Given the description of an element on the screen output the (x, y) to click on. 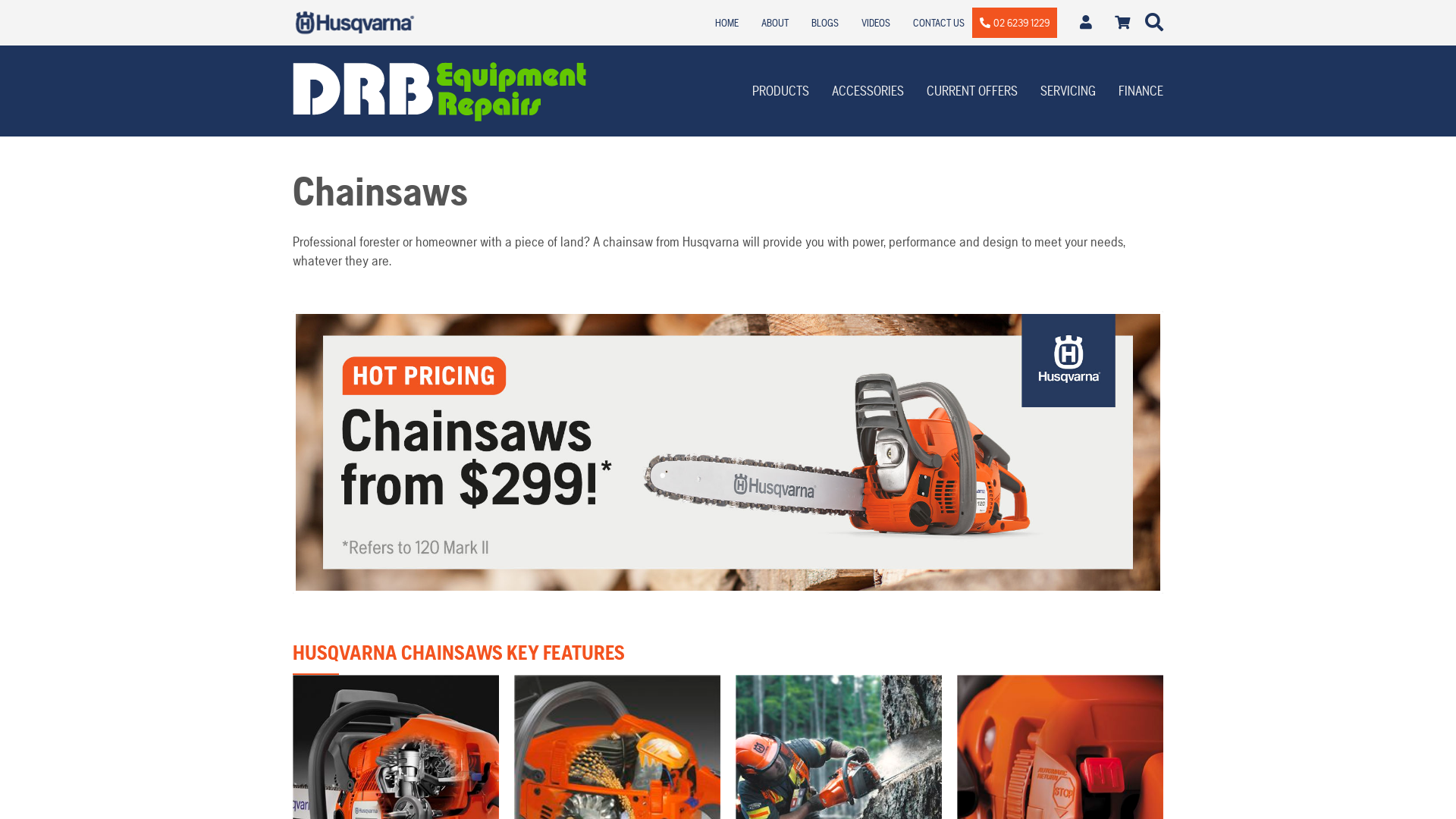
CONTACT US Element type: text (938, 22)
View Cart Element type: hover (1122, 21)
CURRENT OFFERS Element type: text (971, 90)
HOME Element type: text (725, 22)
My Account Element type: hover (1085, 21)
BLOGS Element type: text (824, 22)
SERVICING Element type: text (1067, 90)
VIDEOS Element type: text (875, 22)
ABOUT Element type: text (774, 22)
02 6239 1229 Element type: text (1014, 22)
FINANCE Element type: text (1140, 90)
